Given the description of an element on the screen output the (x, y) to click on. 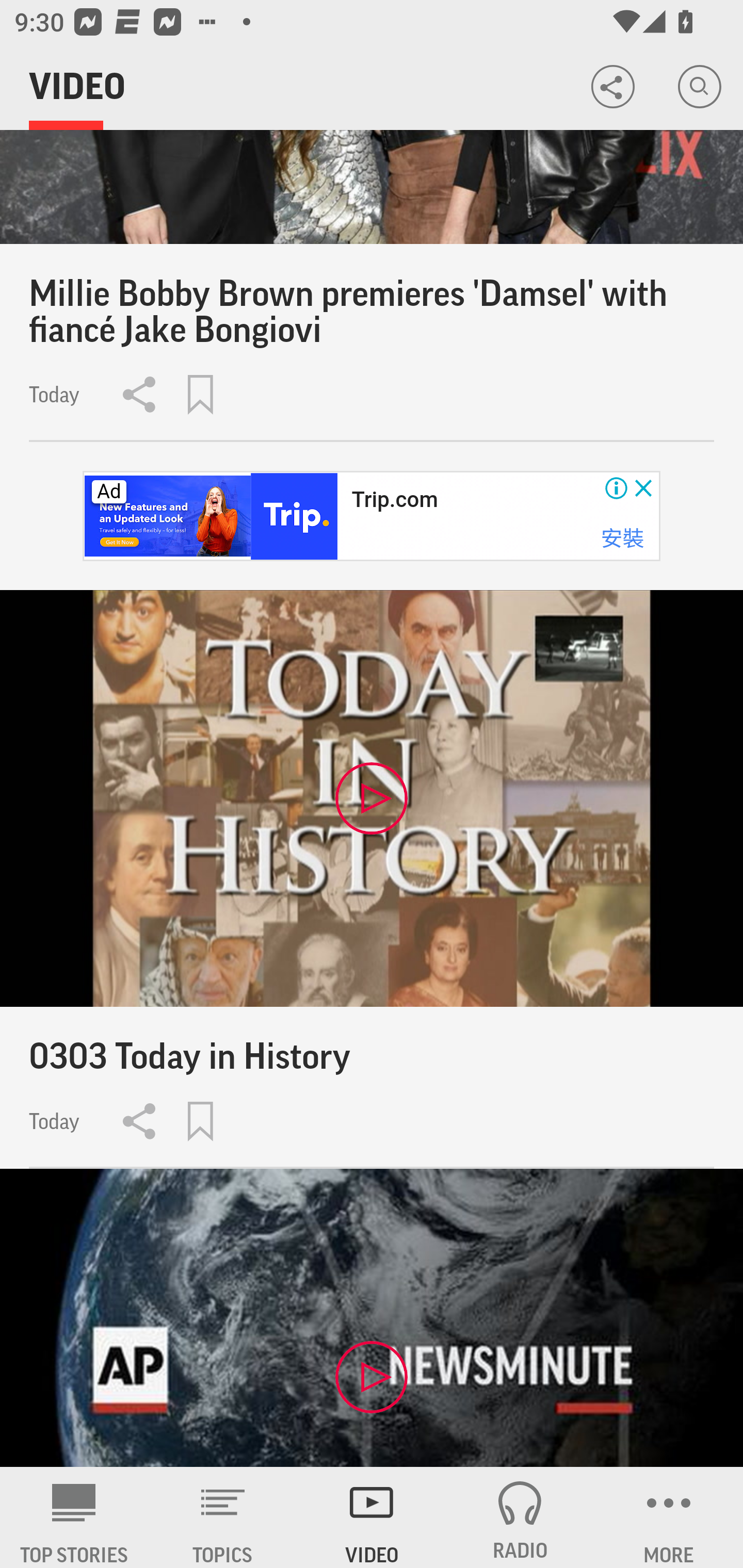
Trip.com (393, 500)
安裝 (621, 538)
0303 Today in History Today (371, 878)
AP News TOP STORIES (74, 1517)
TOPICS (222, 1517)
VIDEO (371, 1517)
RADIO (519, 1517)
MORE (668, 1517)
